Given the description of an element on the screen output the (x, y) to click on. 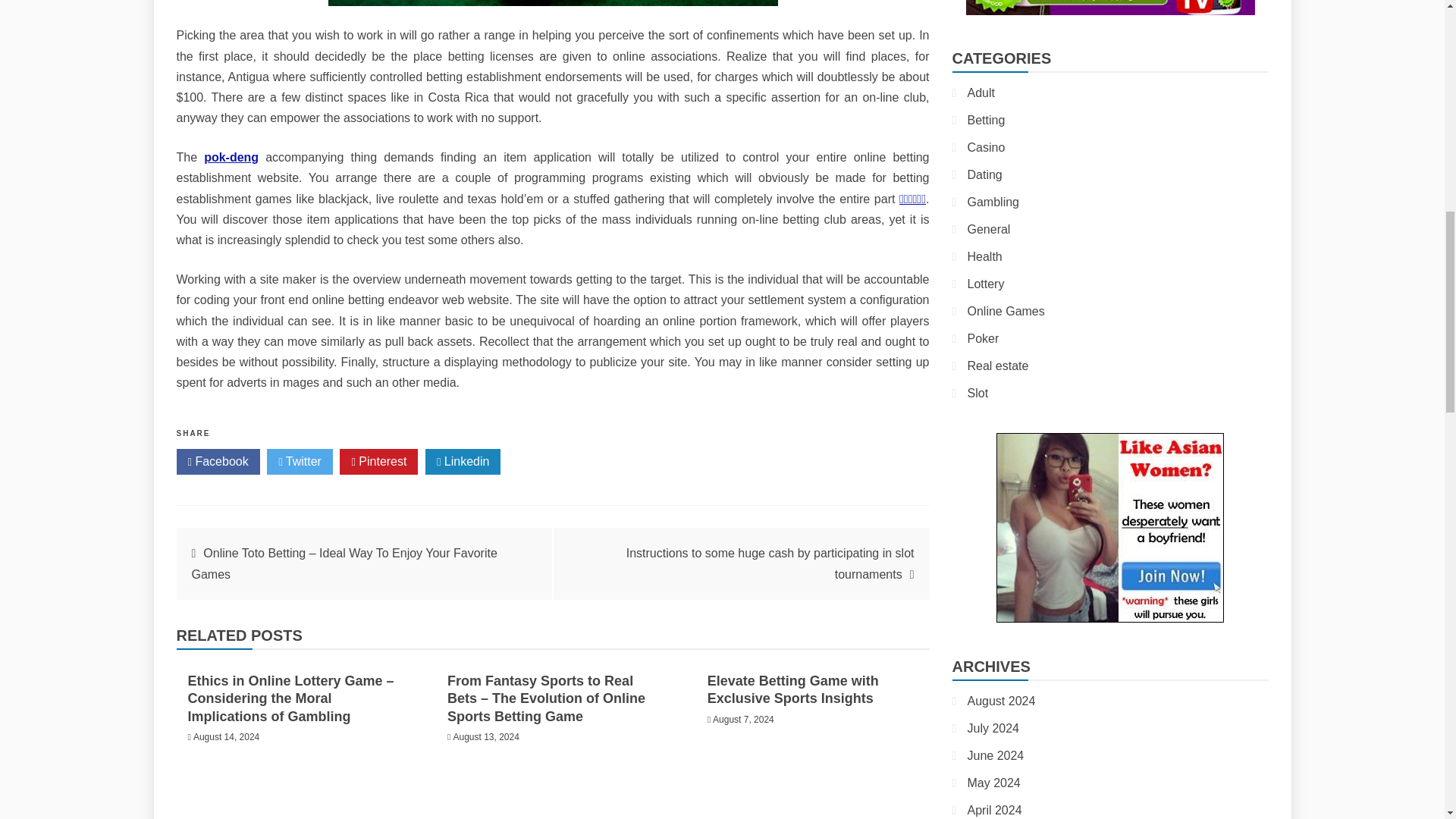
Twitter (299, 461)
pok-deng (231, 156)
Elevate Betting Game with Exclusive Sports Insights (793, 689)
Linkedin (462, 461)
Pinterest (378, 461)
Facebook (217, 461)
August 13, 2024 (485, 737)
August 7, 2024 (743, 719)
Adult (981, 92)
